Given the description of an element on the screen output the (x, y) to click on. 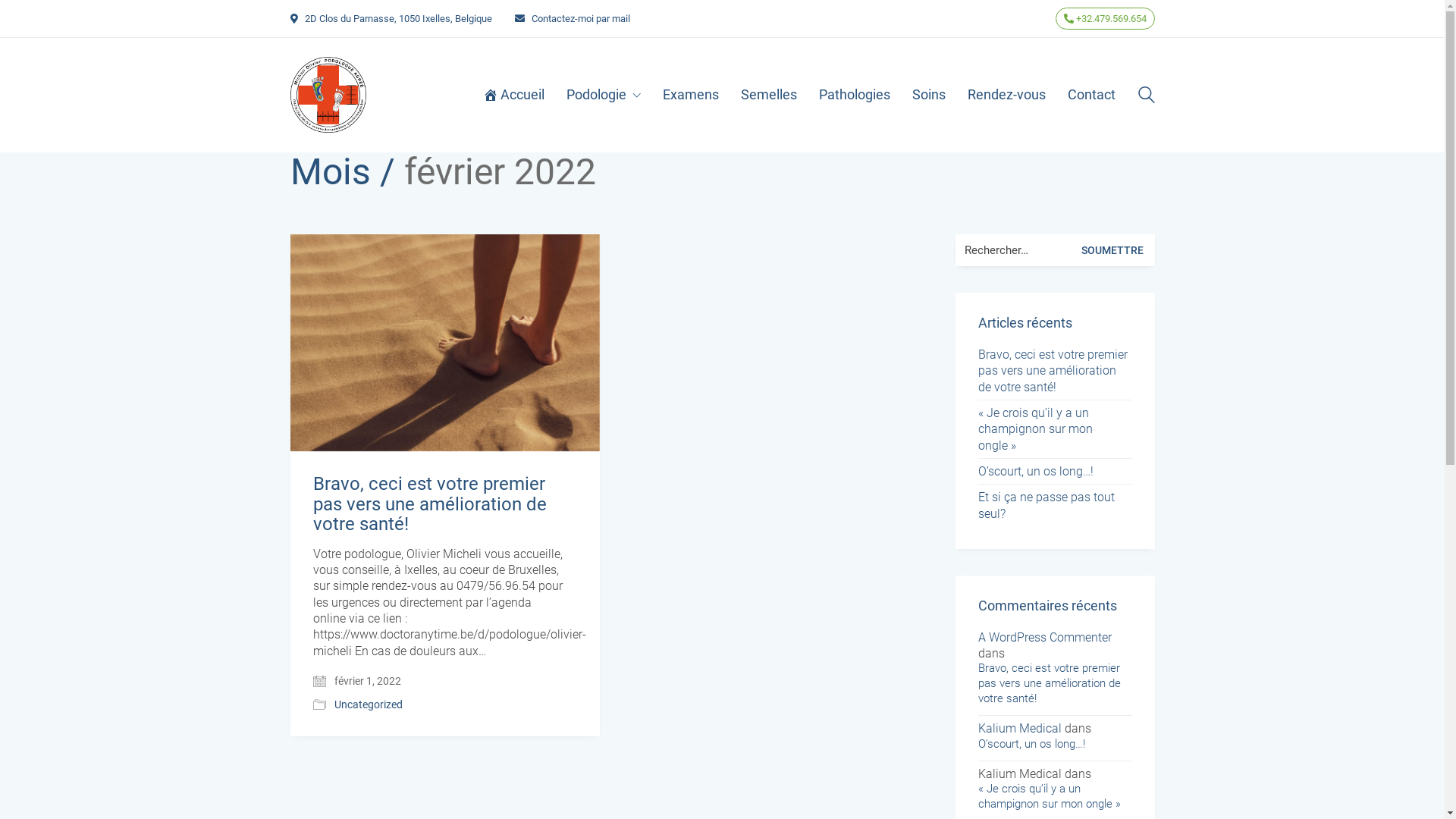
Semelles Element type: text (768, 94)
Pathologies Element type: text (854, 94)
Uncategorized Element type: text (367, 704)
2D Clos du Parnasse, 1050 Ixelles, Belgique Element type: text (398, 18)
Contactez-moi par mail Element type: text (579, 18)
+32.479.569.654 Element type: text (1104, 18)
Examens Element type: text (690, 94)
Kalium Medical Element type: text (1019, 728)
Soumettre Element type: text (1115, 250)
Podologie Element type: text (602, 94)
Accueil Element type: text (512, 94)
Soins Element type: text (927, 94)
A WordPress Commenter Element type: text (1044, 637)
Rendez-vous Element type: text (1006, 94)
Search for: Element type: hover (1054, 250)
Contact Element type: text (1091, 94)
